Given the description of an element on the screen output the (x, y) to click on. 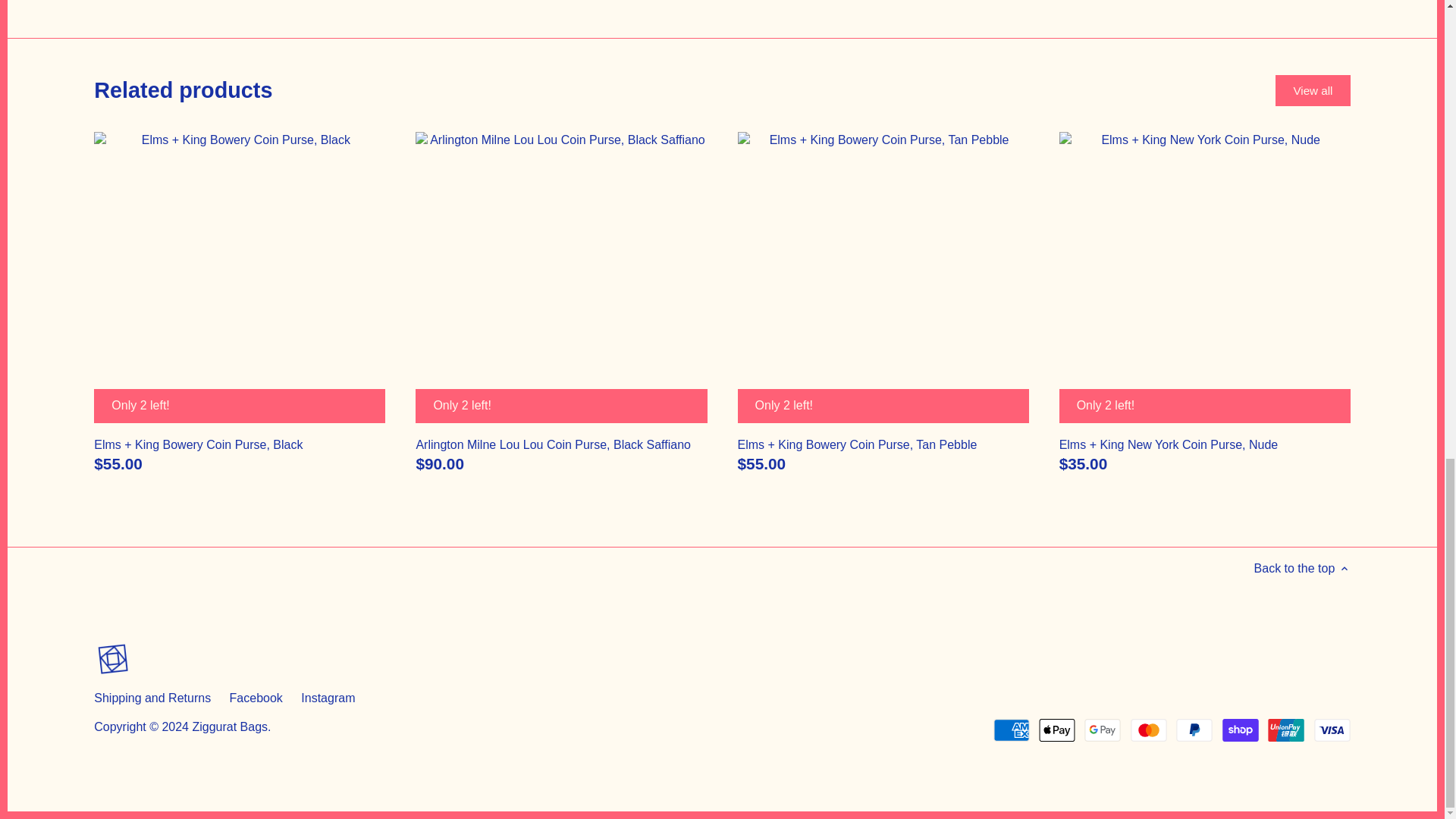
Back to the top (1302, 568)
Arlington Milne Lou Lou Coin Purse, Black Saffiano (560, 443)
Google Pay (1102, 730)
Mastercard (1149, 730)
Apple Pay (1057, 730)
Visa (1332, 730)
Union Pay (1286, 730)
PayPal (1194, 730)
View all (1313, 90)
American Express (1010, 730)
Shop Pay (1241, 730)
